Given the description of an element on the screen output the (x, y) to click on. 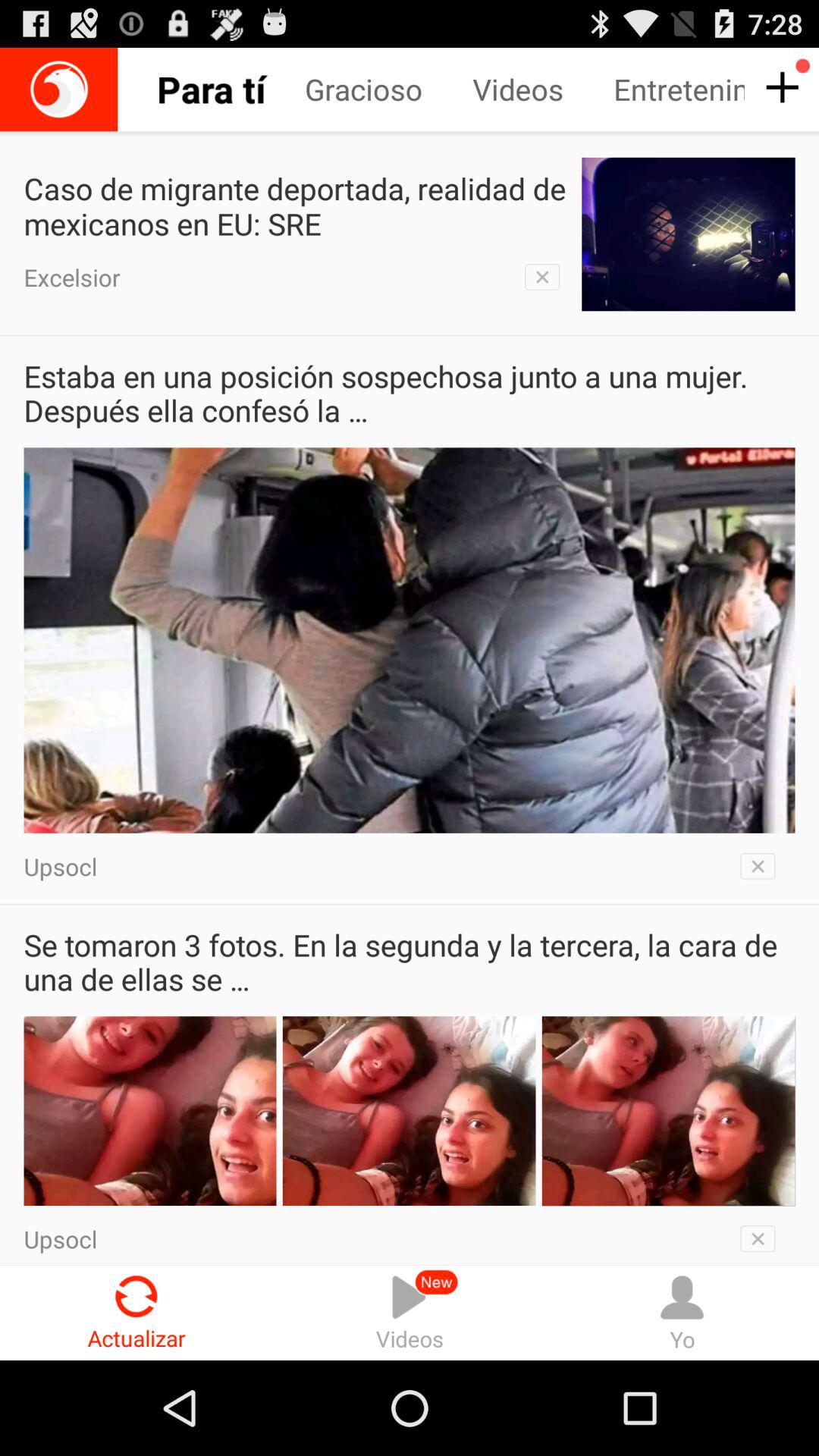
return to homepage (58, 89)
